Given the description of an element on the screen output the (x, y) to click on. 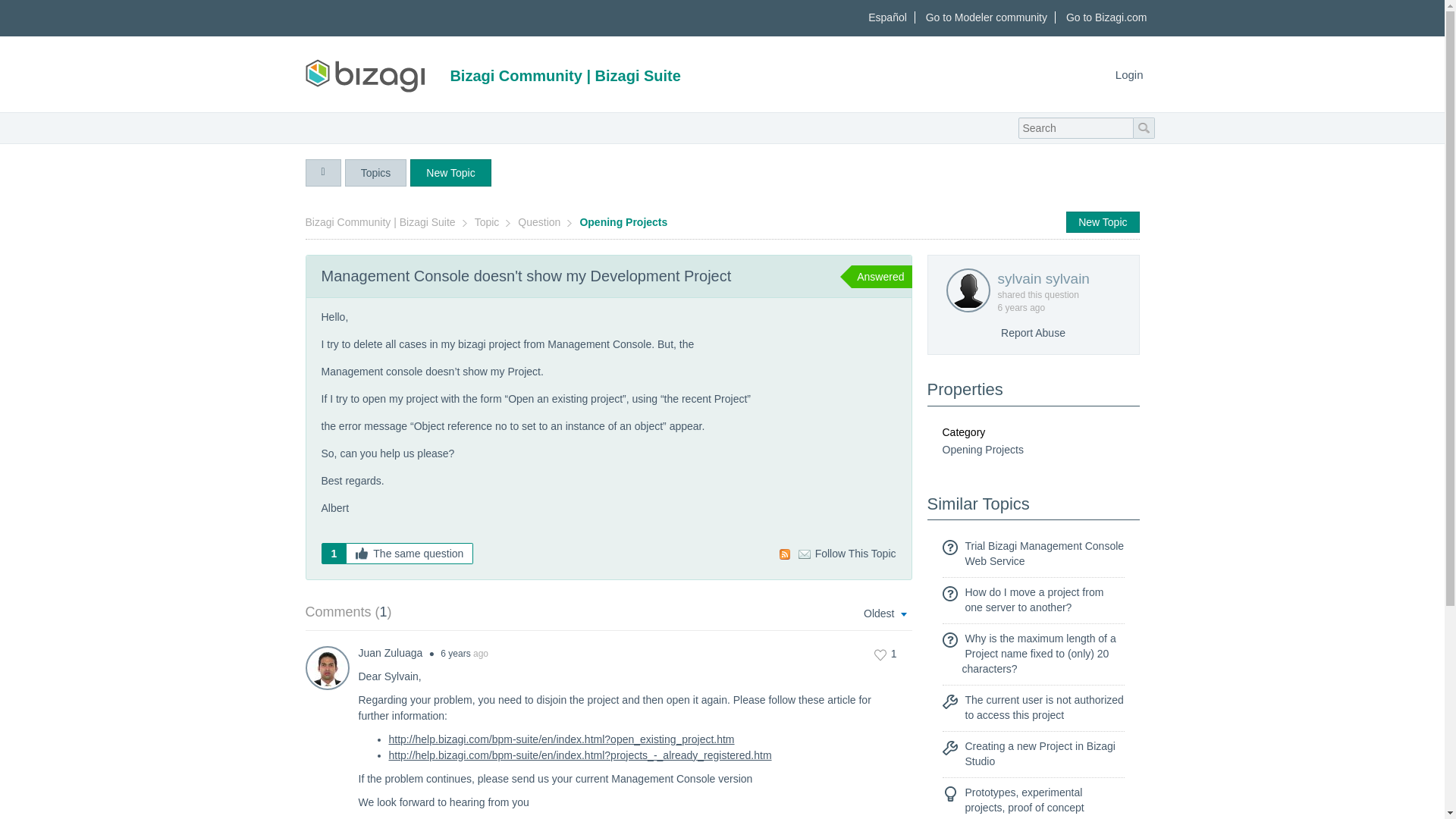
New Topic (1101, 221)
1 The same question (397, 553)
sylvain sylvain (1056, 278)
Juan Zuluaga (390, 653)
Go to Bizagi.com (1106, 17)
How do I move a project from one server to another? (1033, 599)
2018.01.22 14:37:24 (1012, 307)
Creating a new Project in Bizagi Studio (1039, 753)
Opening Projects (625, 222)
Opening Projects (982, 449)
Follow This Topic (846, 554)
Topic (489, 222)
The current user is not authorized to access this project (1042, 707)
Go to Modeler community (986, 17)
1 (886, 654)
